Given the description of an element on the screen output the (x, y) to click on. 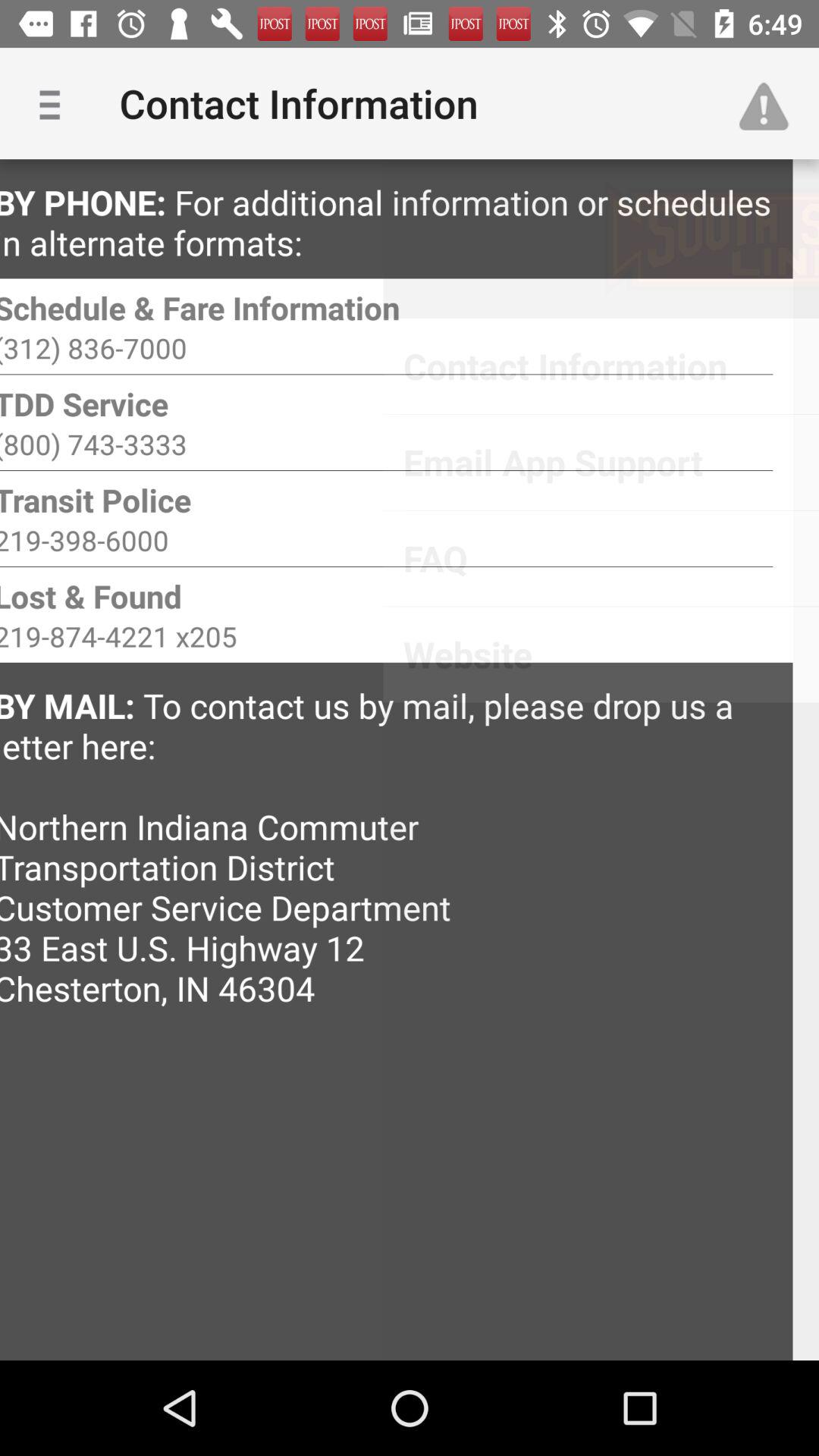
turn off item above by phone for (55, 103)
